Given the description of an element on the screen output the (x, y) to click on. 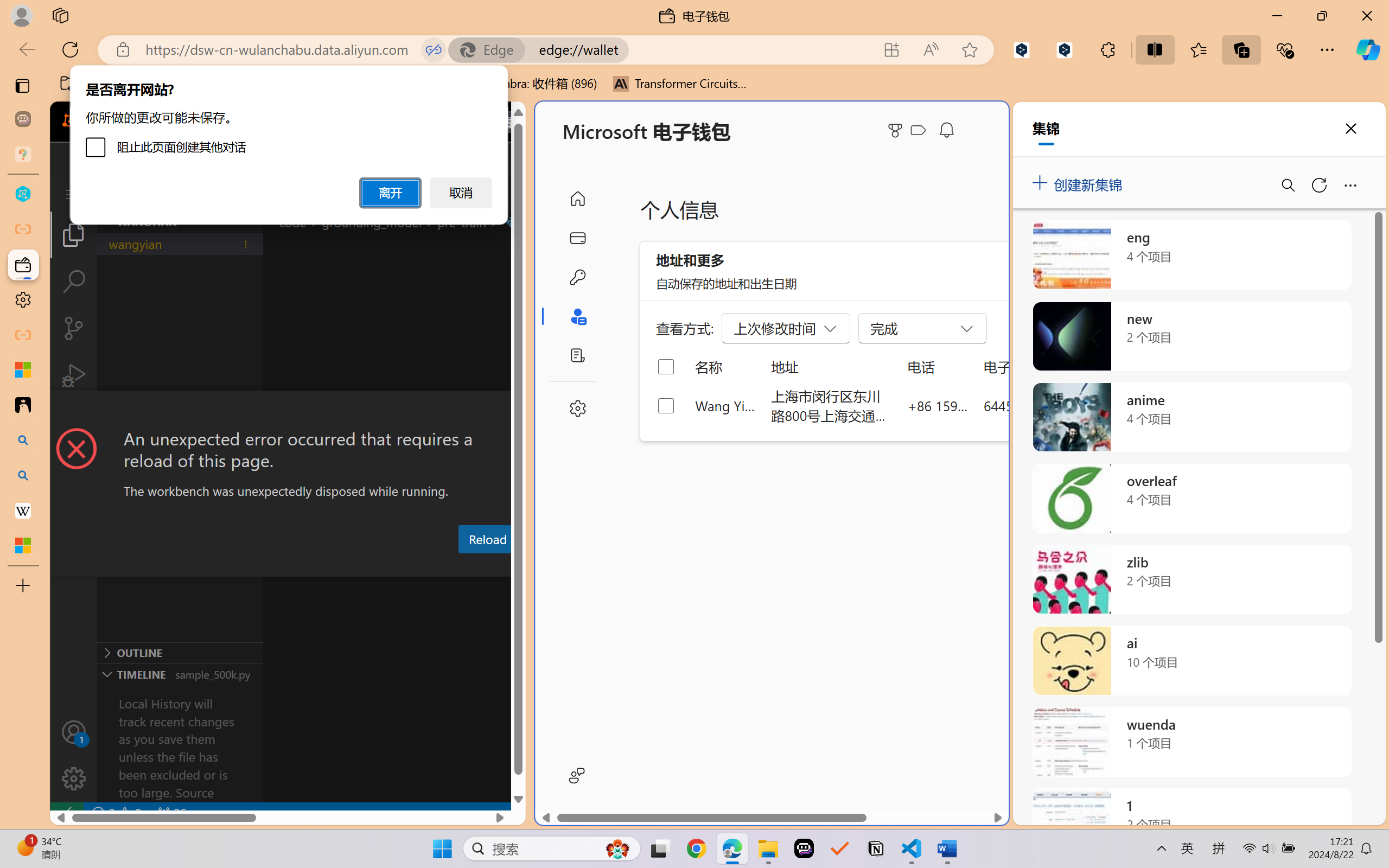
Manage (73, 755)
Terminal (Ctrl+`) (553, 565)
Debug Console (Ctrl+Shift+Y) (463, 565)
Close Dialog (520, 410)
Microsoft Rewards (896, 129)
